Given the description of an element on the screen output the (x, y) to click on. 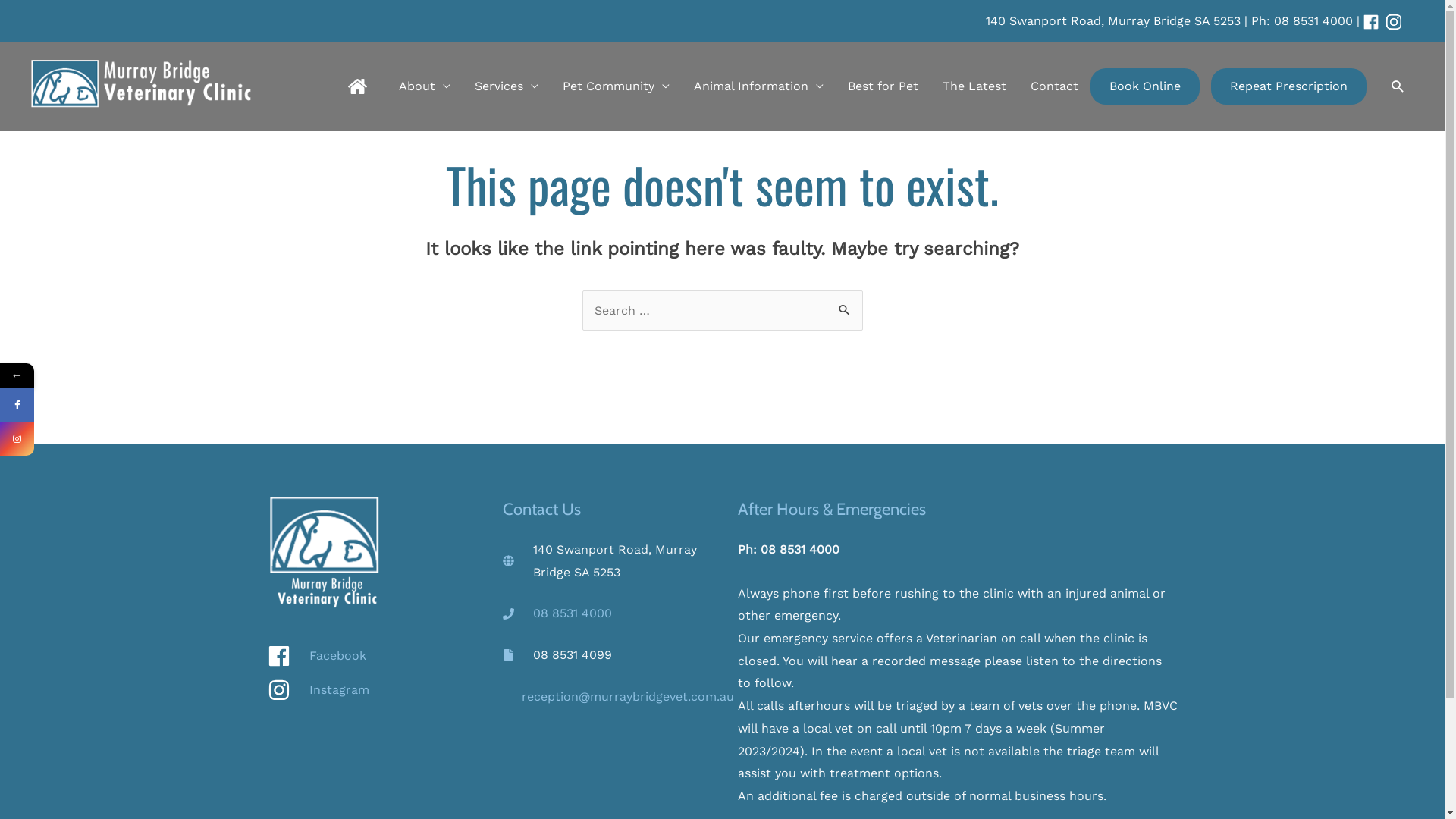
Best for Pet Element type: text (882, 86)
Pet Community Element type: text (615, 86)
Animal Information Element type: text (758, 86)
Facebook Element type: text (86, 404)
Services Element type: text (506, 86)
08 8531 4000 Element type: text (571, 612)
Instagram Element type: text (86, 438)
Facebook Element type: hover (17, 404)
About Element type: text (424, 86)
reception@murraybridgevet.com.au Element type: text (627, 696)
Instagram Element type: hover (17, 438)
Home Element type: text (356, 86)
The Latest Element type: text (974, 86)
Search Element type: text (845, 305)
Instagram Element type: text (368, 689)
Repeat Prescription Element type: text (1288, 86)
Facebook Element type: text (368, 659)
Contact Element type: text (1054, 86)
Book Online Element type: text (1144, 86)
Search Element type: text (1397, 86)
